Given the description of an element on the screen output the (x, y) to click on. 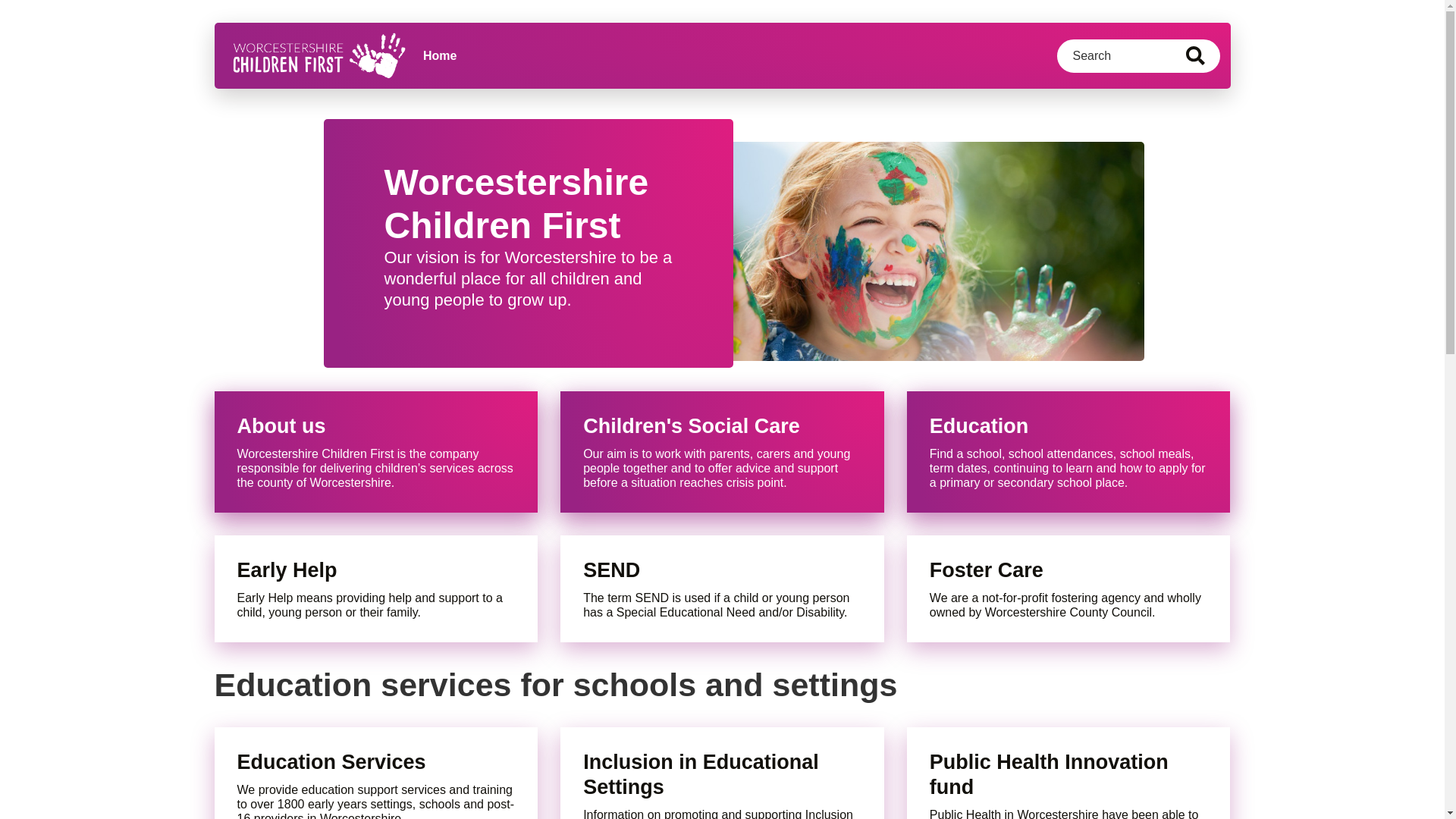
Education Services (375, 762)
Search (1196, 55)
Search (1196, 55)
About us (375, 426)
Foster Care (1069, 570)
Public Health Innovation fund (1069, 775)
Early Help (375, 570)
Education (1069, 426)
Inclusion in Educational Settings (722, 775)
